Given the description of an element on the screen output the (x, y) to click on. 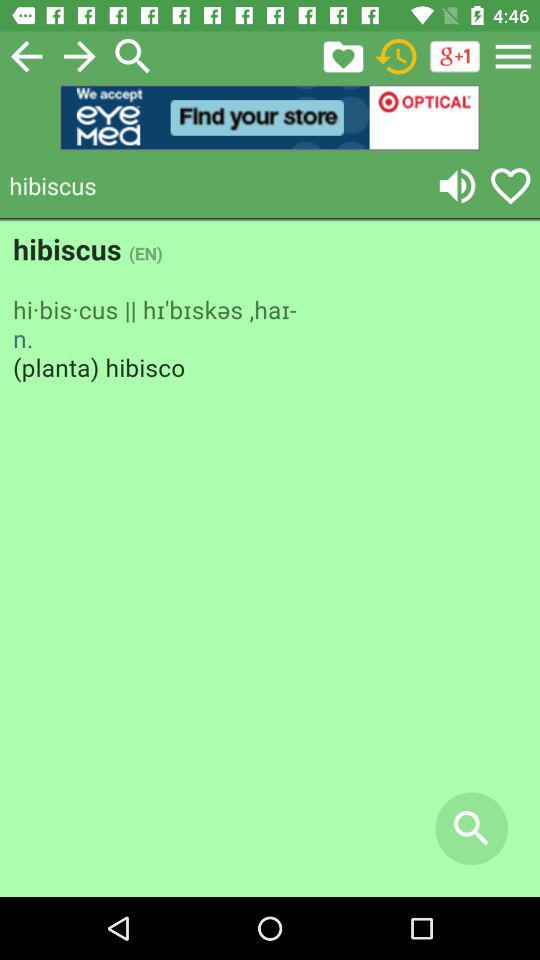
go to dictionary settings (513, 56)
